Given the description of an element on the screen output the (x, y) to click on. 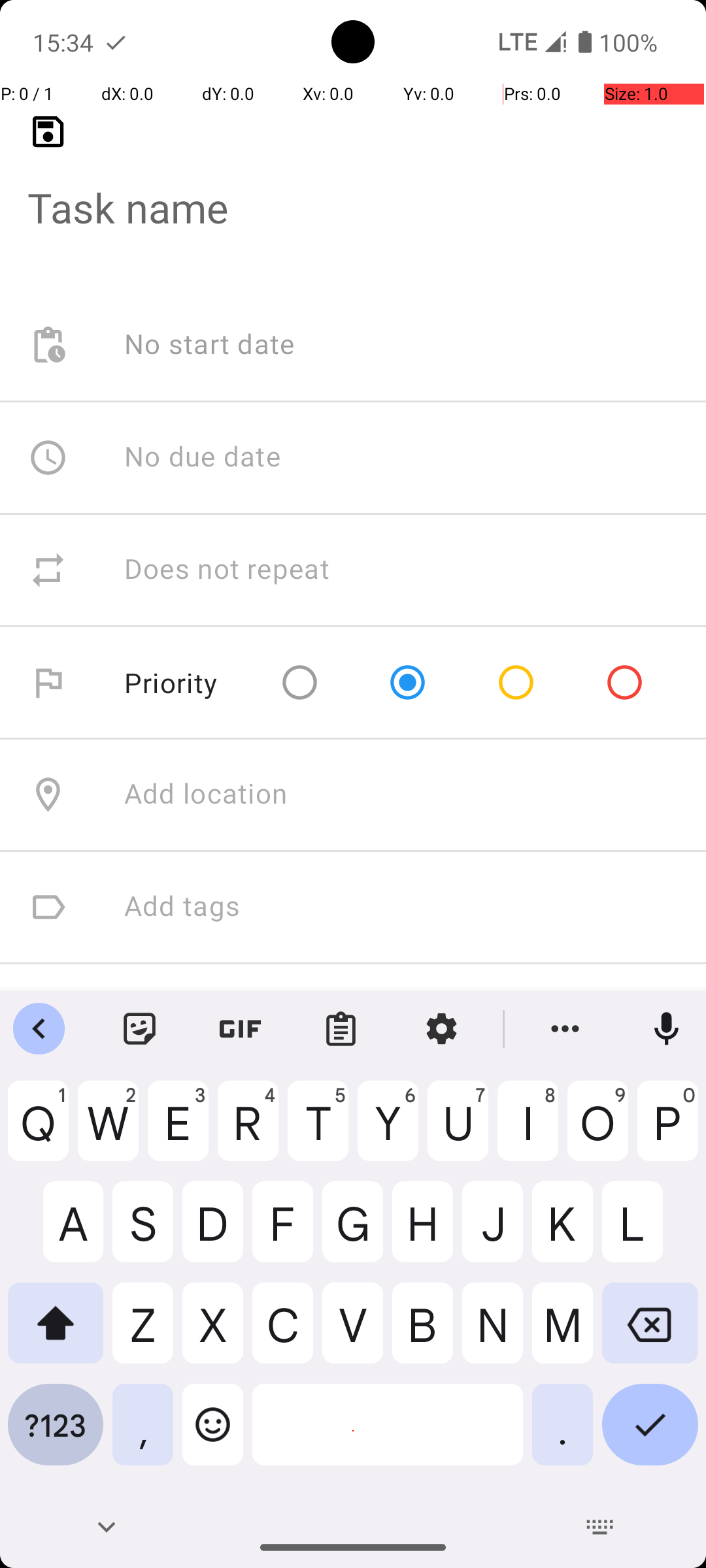
Task name Element type: android.widget.EditText (353, 186)
No due date Element type: android.widget.TextView (202, 457)
No start date Element type: android.widget.TextView (209, 344)
